Given the description of an element on the screen output the (x, y) to click on. 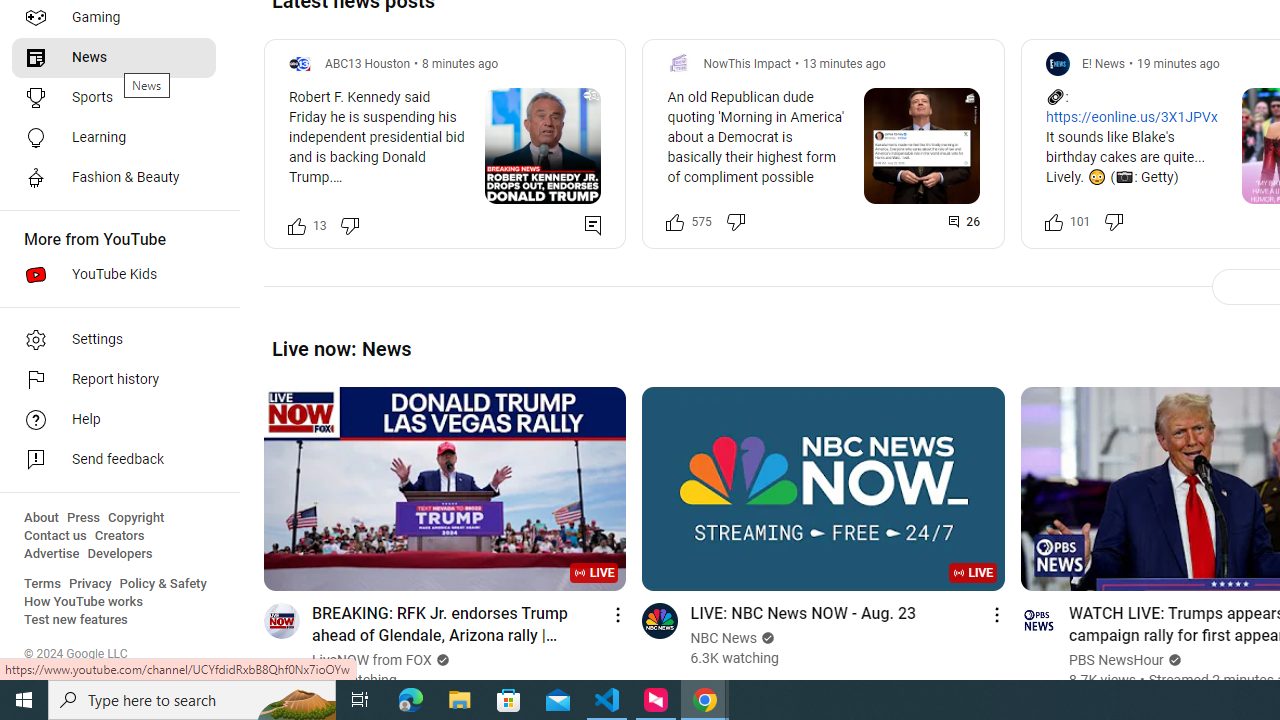
Like this post along with 101 other people (1053, 221)
Go to channel (1038, 620)
LIVE: NBC News NOW - Aug. 23 by NBC News 128,619 views (802, 612)
NowThis Impact (746, 63)
Test new features (76, 620)
https://eonline.us/3X1JPVx (1131, 117)
E! News (1103, 63)
NBC News (724, 637)
Dislike this post (1114, 221)
Like this post along with 13 other people (297, 224)
Help (113, 419)
Privacy (89, 584)
LiveNOW from FOX (372, 660)
